Given the description of an element on the screen output the (x, y) to click on. 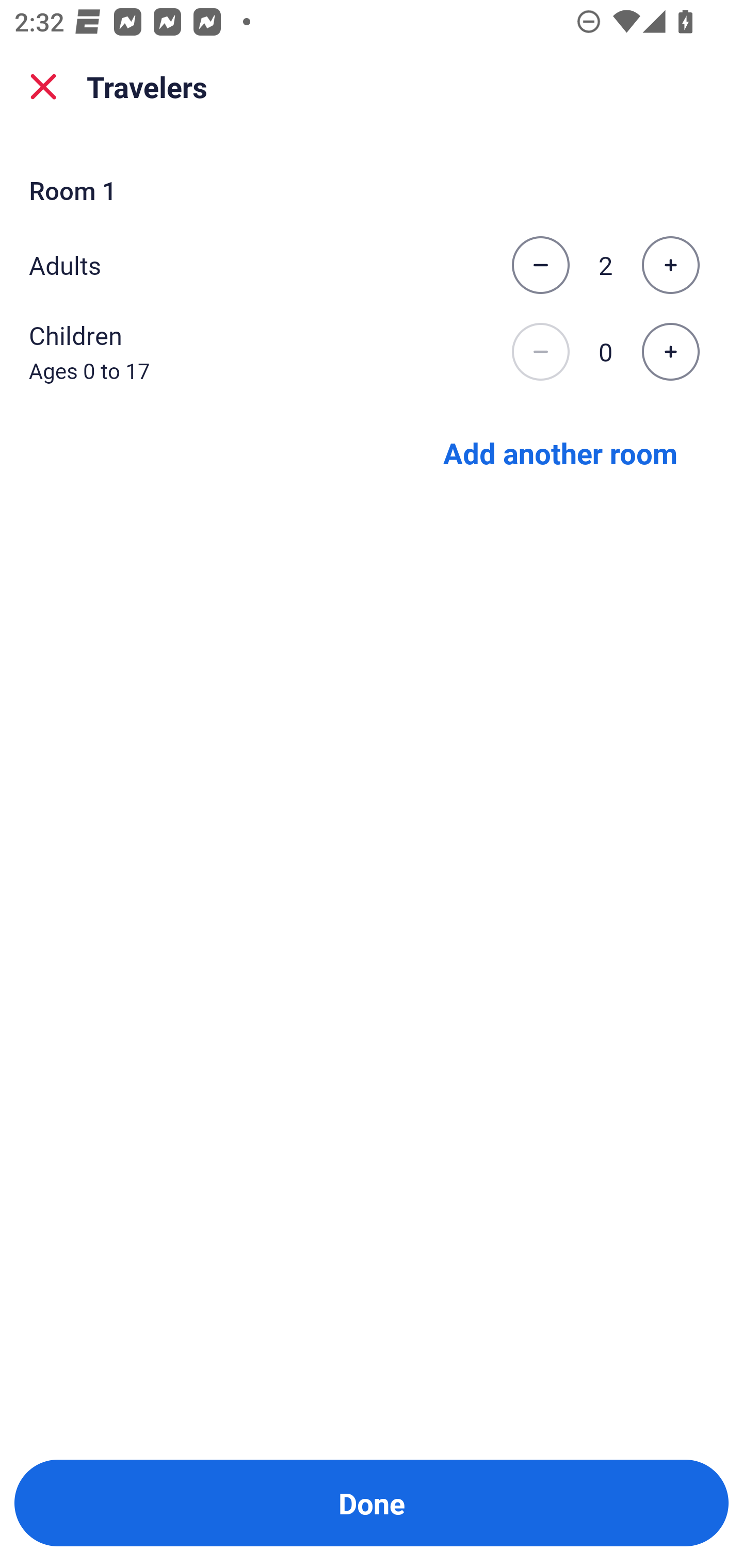
close (43, 86)
Decrease the number of adults (540, 264)
Increase the number of adults (670, 264)
Decrease the number of children (540, 351)
Increase the number of children (670, 351)
Add another room (560, 452)
Done (371, 1502)
